Given the description of an element on the screen output the (x, y) to click on. 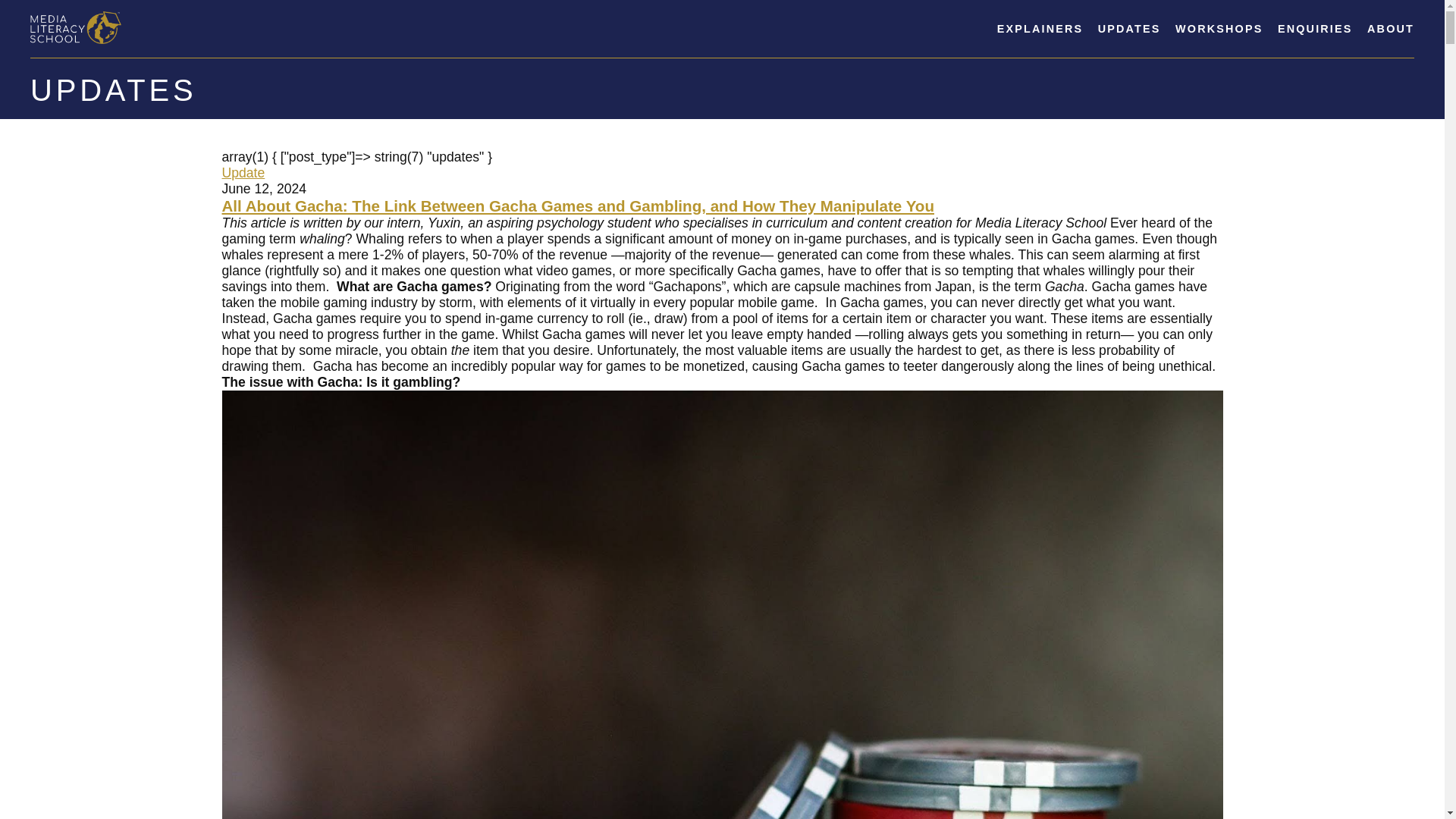
ABOUT (1390, 28)
EXPLAINERS (1040, 28)
WORKSHOPS (1218, 28)
ENQUIRIES (1315, 28)
UPDATES (1128, 28)
Update (242, 172)
UPDATES (113, 90)
